Given the description of an element on the screen output the (x, y) to click on. 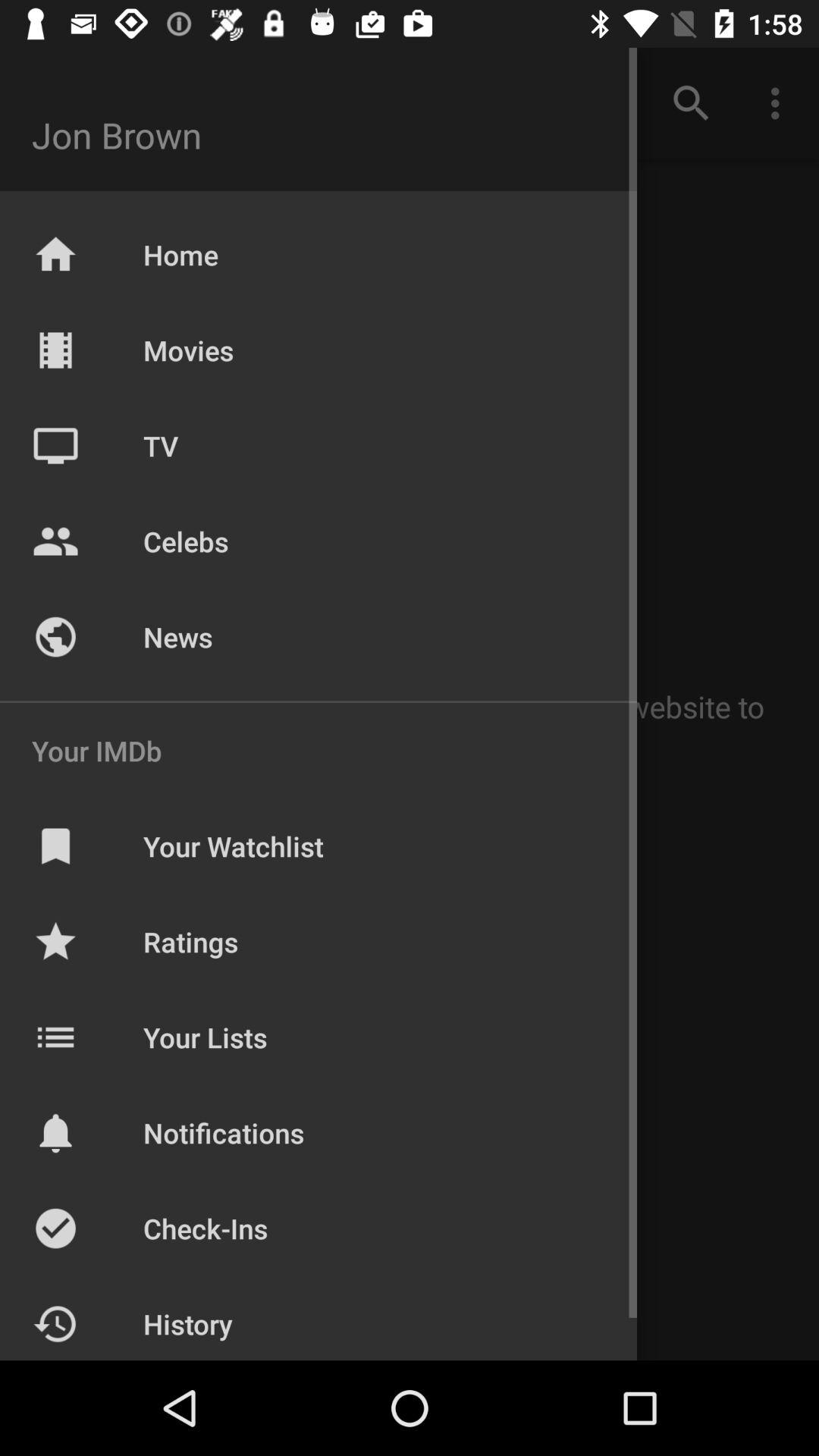
click the search icon which is on the top right side (691, 103)
